Given the description of an element on the screen output the (x, y) to click on. 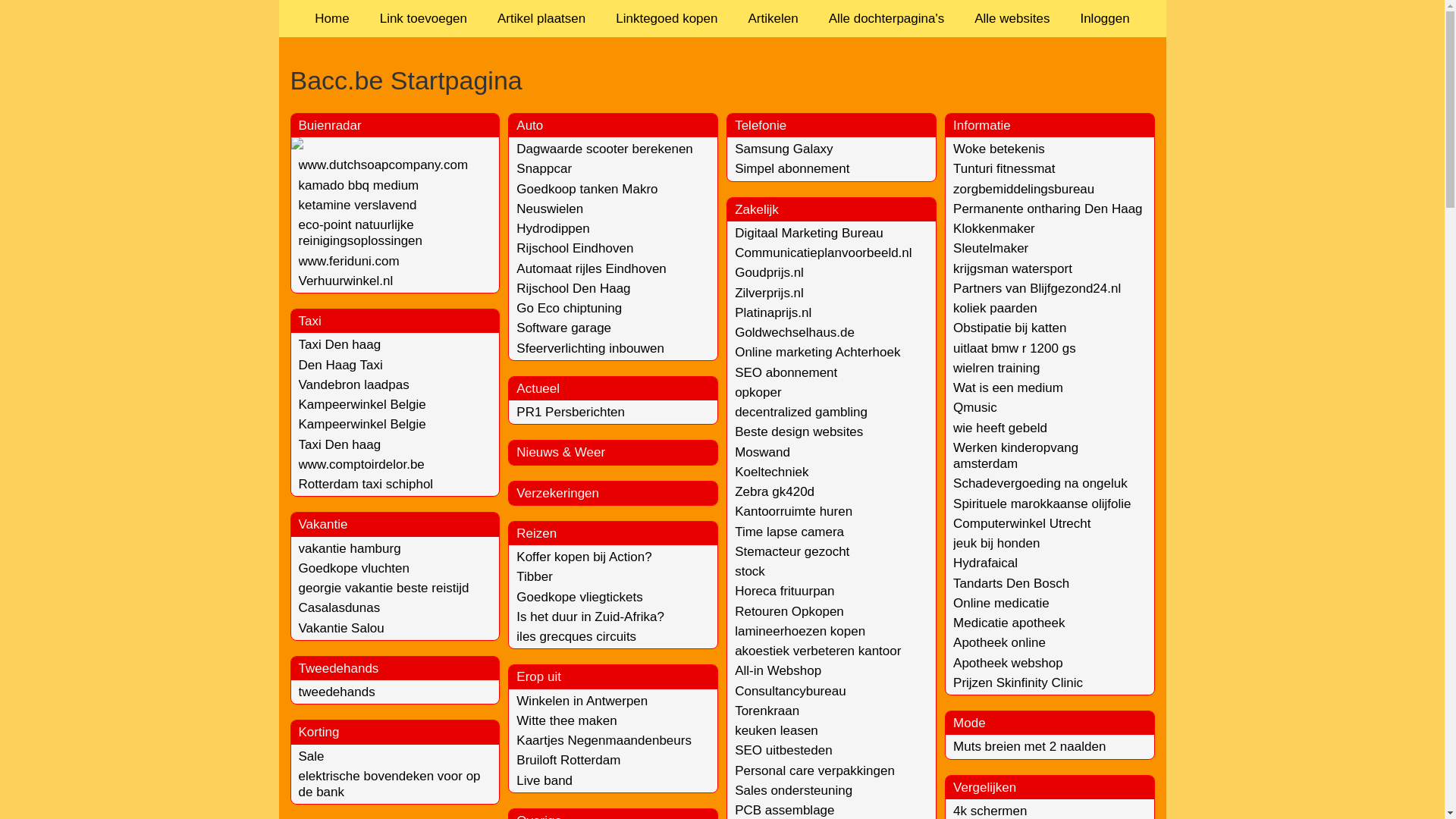
Telefonie Element type: text (760, 125)
Moswand Element type: text (762, 452)
SEO abonnement Element type: text (785, 372)
Zakelijk Element type: text (756, 209)
Rijschool Eindhoven Element type: text (574, 248)
Goudprijs.nl Element type: text (768, 272)
Zilverprijs.nl Element type: text (768, 292)
Apotheek online Element type: text (999, 642)
Dagwaarde scooter berekenen Element type: text (604, 148)
Informatie Element type: text (981, 125)
Linktegoed kopen Element type: text (666, 18)
Erop uit Element type: text (538, 676)
Live band Element type: text (544, 780)
All-in Webshop Element type: text (777, 670)
Goldwechselhaus.de Element type: text (794, 332)
koliek paarden Element type: text (995, 308)
Casalasdunas Element type: text (339, 607)
Bacc.be Startpagina Element type: text (721, 80)
www.comptoirdelor.be Element type: text (361, 464)
Obstipatie bij katten Element type: text (1009, 327)
Schadevergoeding na ongeluk Element type: text (1040, 483)
eco-point natuurlijke reinigingsoplossingen Element type: text (360, 232)
ketamine verslavend Element type: text (357, 204)
decentralized gambling Element type: text (800, 411)
Witte thee maken Element type: text (566, 720)
Communicatieplanvoorbeeld.nl Element type: text (822, 252)
akoestiek verbeteren kantoor Element type: text (817, 650)
Rijschool Den Haag Element type: text (573, 288)
Alle dochterpagina's Element type: text (886, 18)
Klokkenmaker Element type: text (994, 228)
elektrische bovendeken voor op de bank Element type: text (389, 783)
Zebra gk420d Element type: text (774, 491)
Kampeerwinkel Belgie Element type: text (362, 404)
Personal care verpakkingen Element type: text (814, 770)
Sale Element type: text (311, 756)
Kaartjes Negenmaandenbeurs Element type: text (603, 740)
Apotheek webshop Element type: text (1008, 662)
Korting Element type: text (318, 731)
Sales ondersteuning Element type: text (793, 790)
lamineerhoezen kopen Element type: text (799, 631)
SEO uitbesteden Element type: text (783, 750)
Neuswielen Element type: text (549, 208)
Tibber Element type: text (534, 576)
Koeltechniek Element type: text (771, 471)
Torenkraan Element type: text (766, 710)
PR1 Persberichten Element type: text (570, 411)
Winkelen in Antwerpen Element type: text (581, 700)
Taxi Den haag Element type: text (339, 344)
Sfeerverlichting inbouwen Element type: text (590, 348)
Taxi Element type: text (309, 320)
Horeca frituurpan Element type: text (784, 590)
Goedkope vliegtickets Element type: text (579, 596)
Samsung Galaxy Element type: text (783, 148)
tweedehands Element type: text (336, 691)
Vakantie Element type: text (323, 524)
Medicatie apotheek Element type: text (1008, 622)
Werken kinderopvang amsterdam Element type: text (1015, 455)
Digitaal Marketing Bureau Element type: text (808, 232)
Verhuurwinkel.nl Element type: text (345, 280)
Artikel plaatsen Element type: text (541, 18)
Vergelijken Element type: text (984, 787)
Auto Element type: text (529, 125)
4k schermen Element type: text (989, 810)
PCB assemblage Element type: text (784, 810)
Online marketing Achterhoek Element type: text (817, 352)
jeuk bij honden Element type: text (996, 543)
Den Haag Taxi Element type: text (340, 364)
kamado bbq medium Element type: text (358, 185)
zorgbemiddelingsbureau Element type: text (1023, 189)
opkoper Element type: text (757, 392)
Platinaprijs.nl Element type: text (772, 312)
keuken leasen Element type: text (776, 730)
Verzekeringen Element type: text (557, 493)
Consultancybureau Element type: text (789, 691)
Tunturi fitnessmat Element type: text (1003, 168)
stock Element type: text (749, 571)
Time lapse camera Element type: text (789, 531)
Link toevoegen Element type: text (423, 18)
Beste design websites Element type: text (798, 431)
Software garage Element type: text (563, 327)
Stemacteur gezocht Element type: text (791, 551)
Qmusic Element type: text (975, 407)
iles grecques circuits Element type: text (576, 636)
Sleutelmaker Element type: text (990, 248)
Tandarts Den Bosch Element type: text (1011, 583)
Alle websites Element type: text (1011, 18)
Online medicatie Element type: text (1001, 603)
Reizen Element type: text (536, 533)
Woke betekenis Element type: text (998, 148)
Buienradar Element type: text (329, 125)
uitlaat bmw r 1200 gs Element type: text (1014, 348)
Hydrafaical Element type: text (985, 562)
Vandebron laadpas Element type: text (353, 384)
Tweedehands Element type: text (338, 668)
Wat is een medium Element type: text (1008, 387)
Go Eco chiptuning Element type: text (568, 308)
Prijzen Skinfinity Clinic Element type: text (1017, 682)
Is het duur in Zuid-Afrika? Element type: text (590, 616)
www.feriduni.com Element type: text (348, 261)
georgie vakantie beste reistijd Element type: text (383, 587)
Kampeerwinkel Belgie Element type: text (362, 424)
Hydrodippen Element type: text (552, 228)
Simpel abonnement Element type: text (791, 168)
vakantie hamburg Element type: text (349, 548)
Artikelen Element type: text (772, 18)
Snappcar Element type: text (543, 168)
Permanente ontharing Den Haag Element type: text (1047, 208)
Koffer kopen bij Action? Element type: text (583, 556)
Kantoorruimte huren Element type: text (793, 511)
Automaat rijles Eindhoven Element type: text (591, 268)
Goedkope vluchten Element type: text (354, 568)
www.dutchsoapcompany.com Element type: text (383, 164)
Rotterdam taxi schiphol Element type: text (365, 483)
Bruiloft Rotterdam Element type: text (568, 760)
Muts breien met 2 naalden Element type: text (1029, 746)
Vakantie Salou Element type: text (341, 628)
wie heeft gebeld Element type: text (1000, 427)
Nieuws & Weer Element type: text (560, 452)
Partners van Blijfgezond24.nl Element type: text (1036, 288)
Inloggen Element type: text (1104, 18)
krijgsman watersport Element type: text (1012, 268)
Mode Element type: text (969, 722)
Home Element type: text (331, 18)
Goedkoop tanken Makro Element type: text (586, 189)
Actueel Element type: text (537, 388)
Retouren Opkopen Element type: text (789, 611)
wielren training Element type: text (996, 367)
Taxi Den haag Element type: text (339, 444)
Spirituele marokkaanse olijfolie Element type: text (1041, 503)
Computerwinkel Utrecht Element type: text (1021, 523)
